Given the description of an element on the screen output the (x, y) to click on. 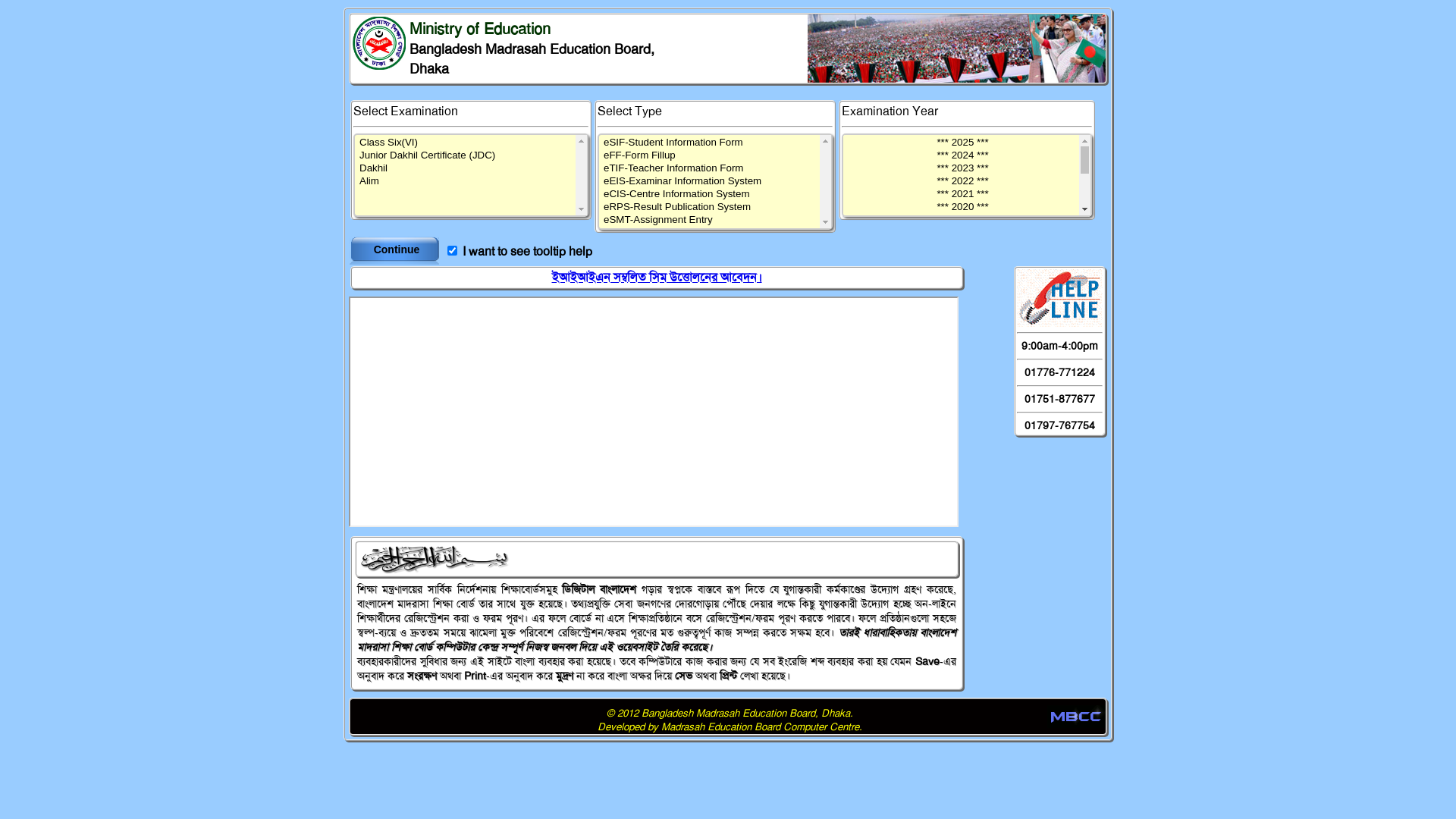
Continue Element type: text (396, 249)
